Given the description of an element on the screen output the (x, y) to click on. 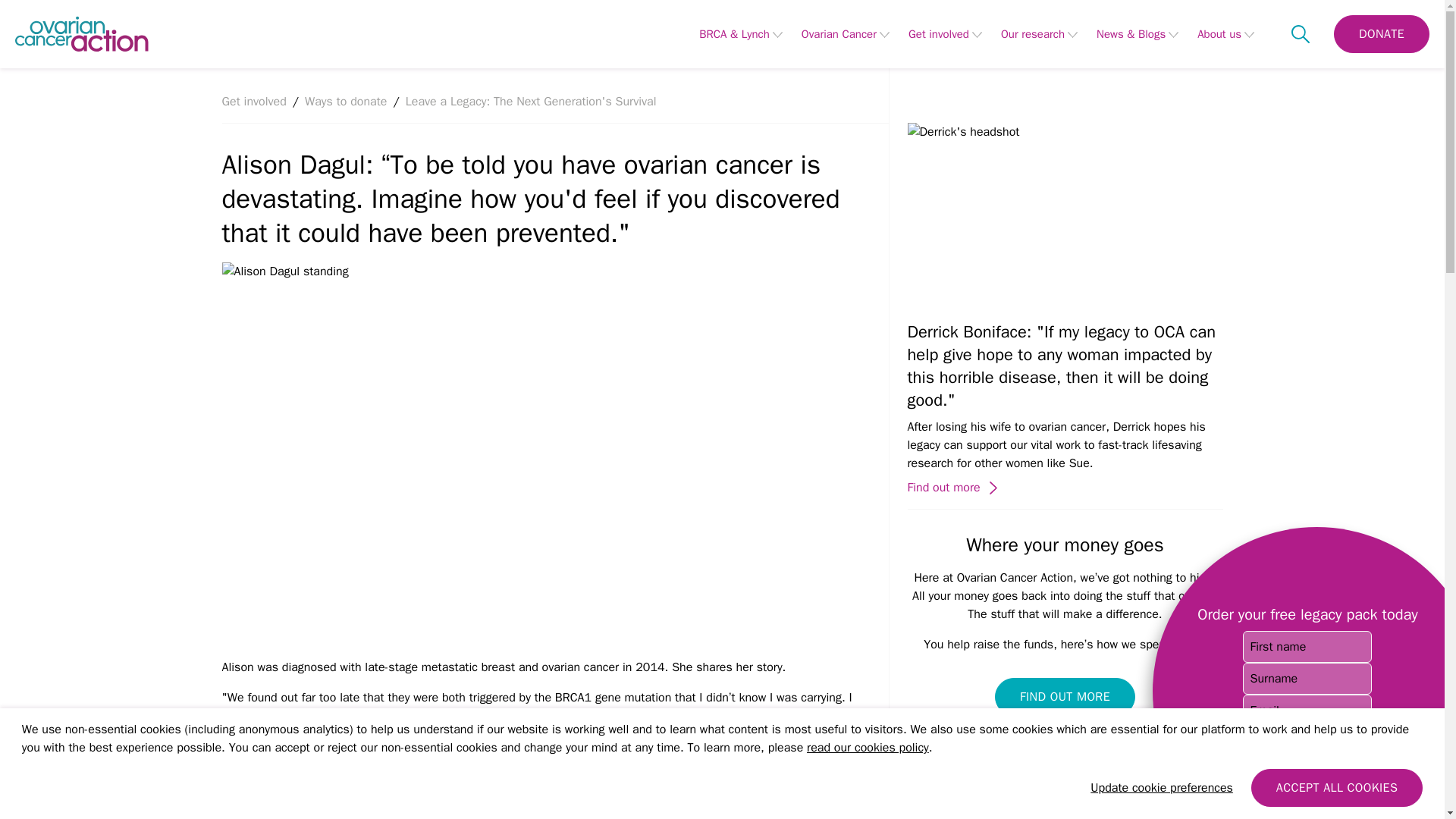
Get involved (938, 33)
Our research (1032, 33)
Ovarian Cancer (839, 33)
Update cookie preferences (1161, 787)
read our cookies policy (867, 747)
ACCEPT ALL COOKIES (1336, 787)
